Given the description of an element on the screen output the (x, y) to click on. 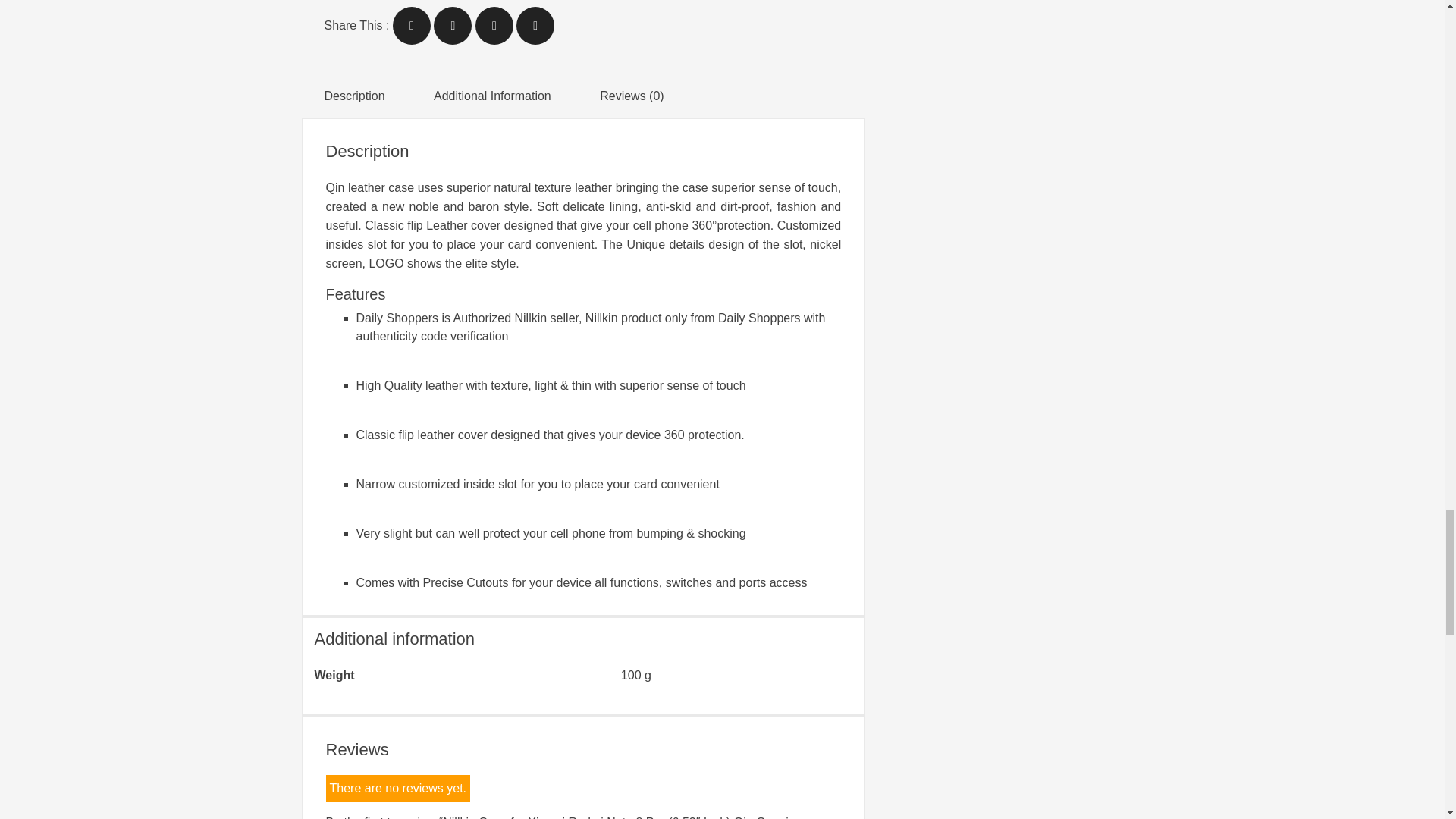
Description (354, 96)
Additional Information (492, 96)
